Given the description of an element on the screen output the (x, y) to click on. 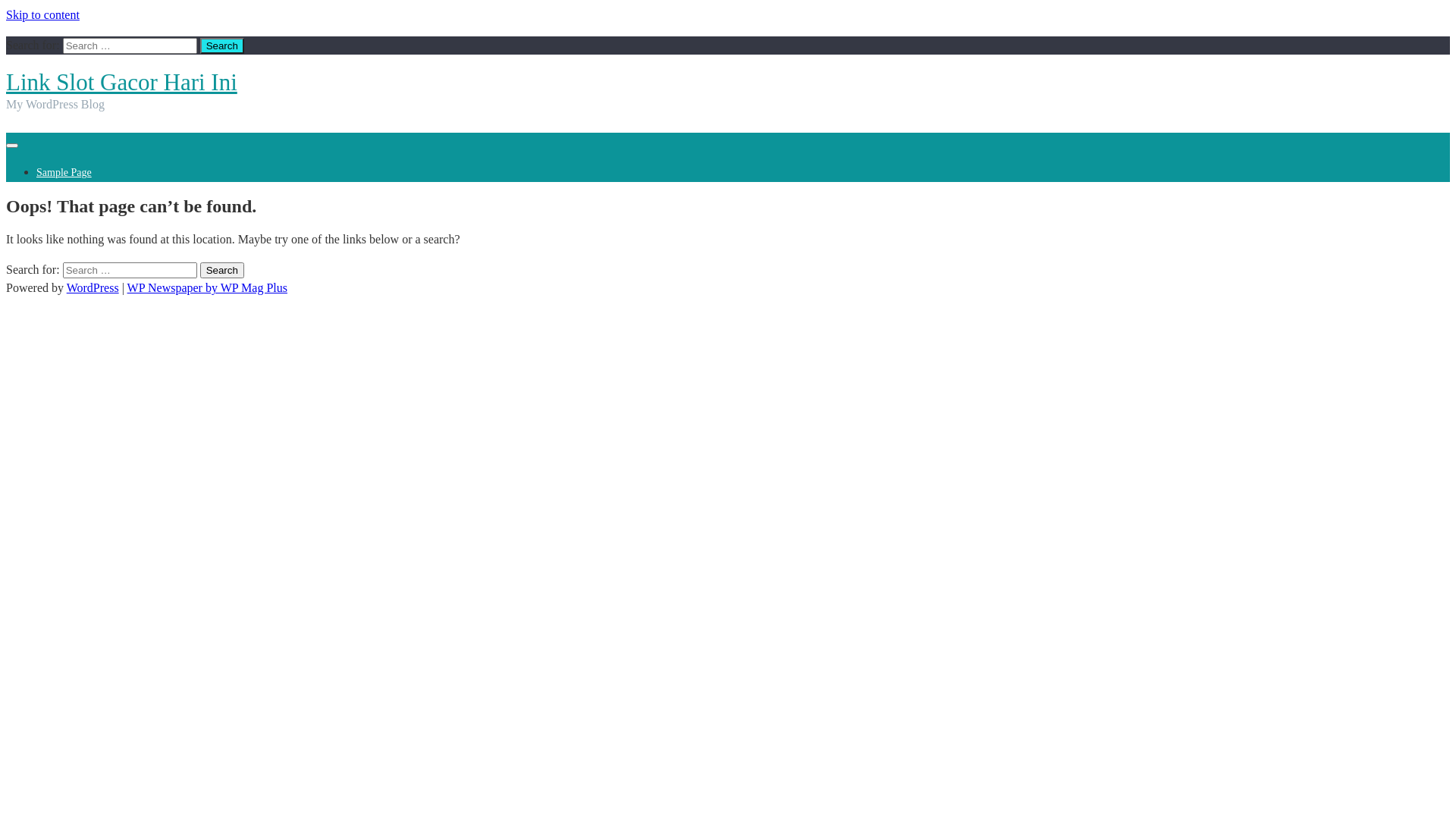
Skip to content Element type: text (42, 14)
Search for: Element type: hover (129, 270)
WP Newspaper by WP Mag Plus Element type: text (207, 287)
Search for: Element type: hover (129, 45)
Sample Page Element type: text (63, 172)
Search Element type: text (222, 45)
Search Element type: text (222, 270)
Link Slot Gacor Hari Ini Element type: text (121, 82)
WordPress Element type: text (92, 287)
